Given the description of an element on the screen output the (x, y) to click on. 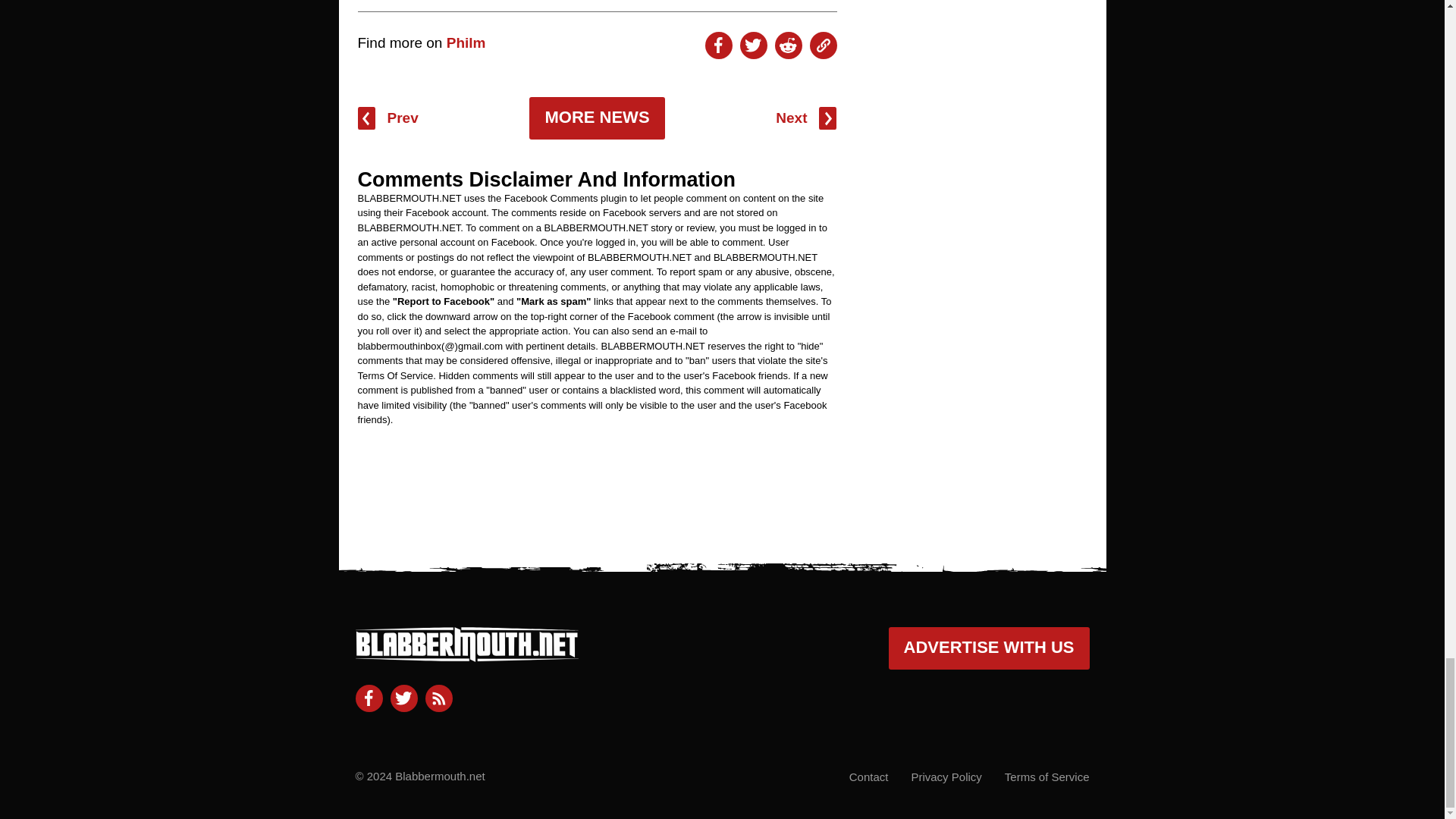
Next (805, 118)
Prev (388, 118)
Copy To Clipboard (823, 44)
Philm (466, 42)
MORE NEWS (596, 118)
blabbermouth (466, 655)
Share On Reddit (788, 44)
Share On Twitter (753, 44)
Share On Facebook (718, 44)
